Given the description of an element on the screen output the (x, y) to click on. 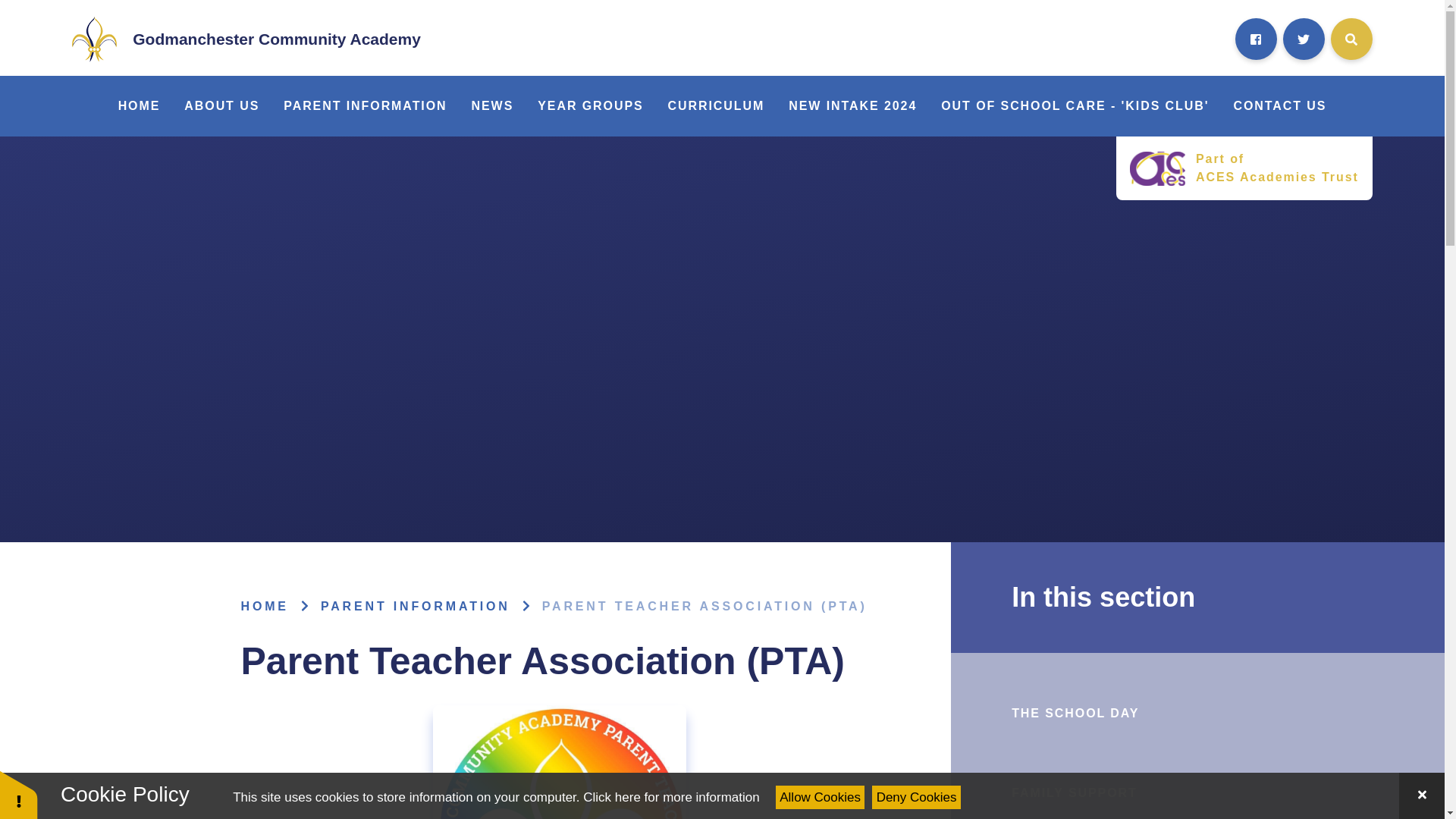
See cookie policy (670, 797)
HOME (139, 106)
Deny Cookies (915, 797)
ABOUT US (220, 106)
Allow Cookies (820, 797)
PARENT INFORMATION (364, 106)
